Given the description of an element on the screen output the (x, y) to click on. 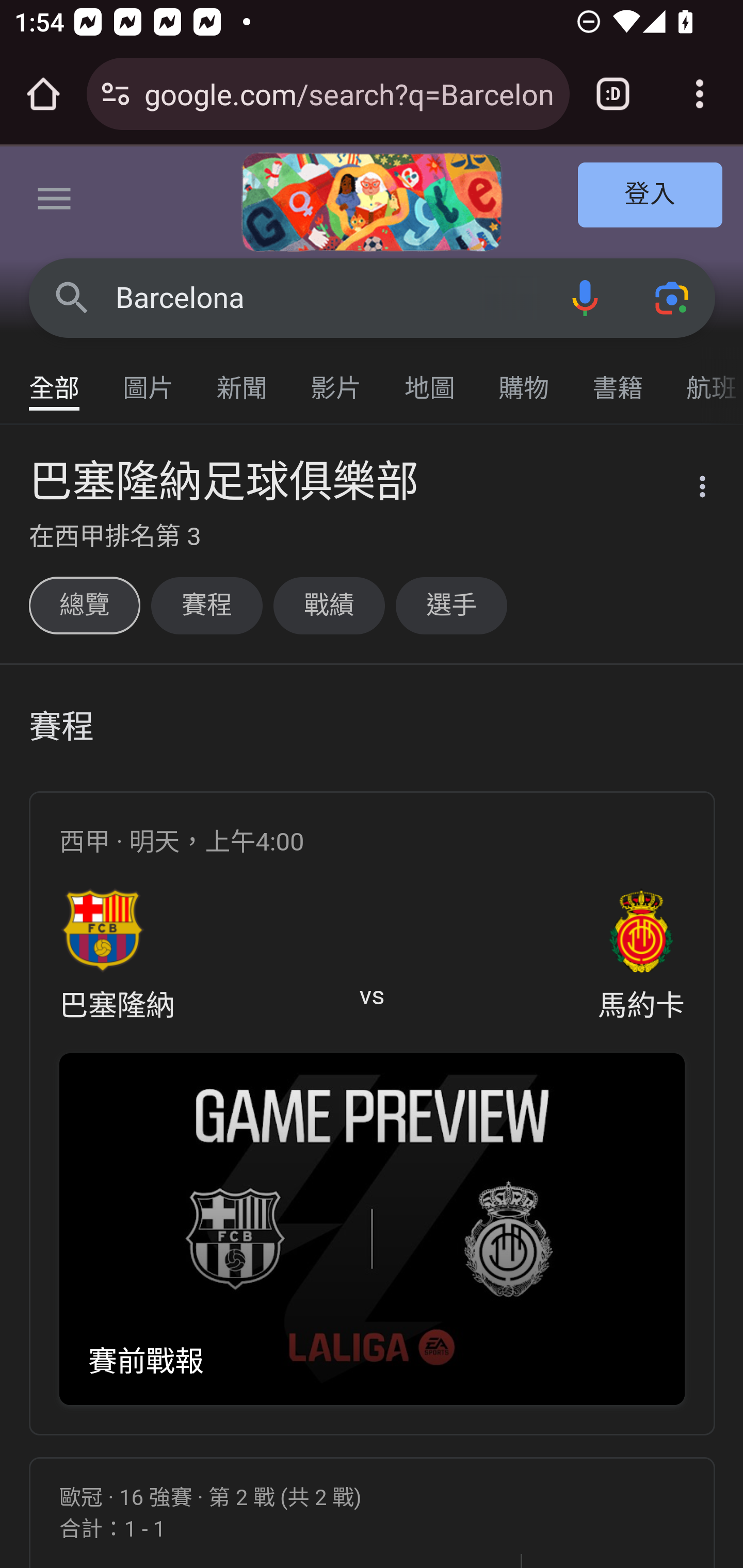
Open the home page (43, 93)
Connection is secure (115, 93)
Switch or close tabs (612, 93)
Customize and control Google Chrome (699, 93)
2024 年國際婦女節 (371, 202)
主選單 (54, 202)
登入 (650, 195)
Google 搜尋 (71, 296)
使用相機或相片搜尋 (672, 296)
Barcelona (328, 297)
圖片 (148, 378)
新聞 (242, 378)
影片 (336, 378)
地圖 (430, 378)
購物 (524, 378)
書籍 (618, 378)
航班 (703, 378)
更多選項 (690, 489)
總覽 (83, 605)
賽程 (206, 605)
戰績 (329, 605)
選手 (451, 605)
